Given the description of an element on the screen output the (x, y) to click on. 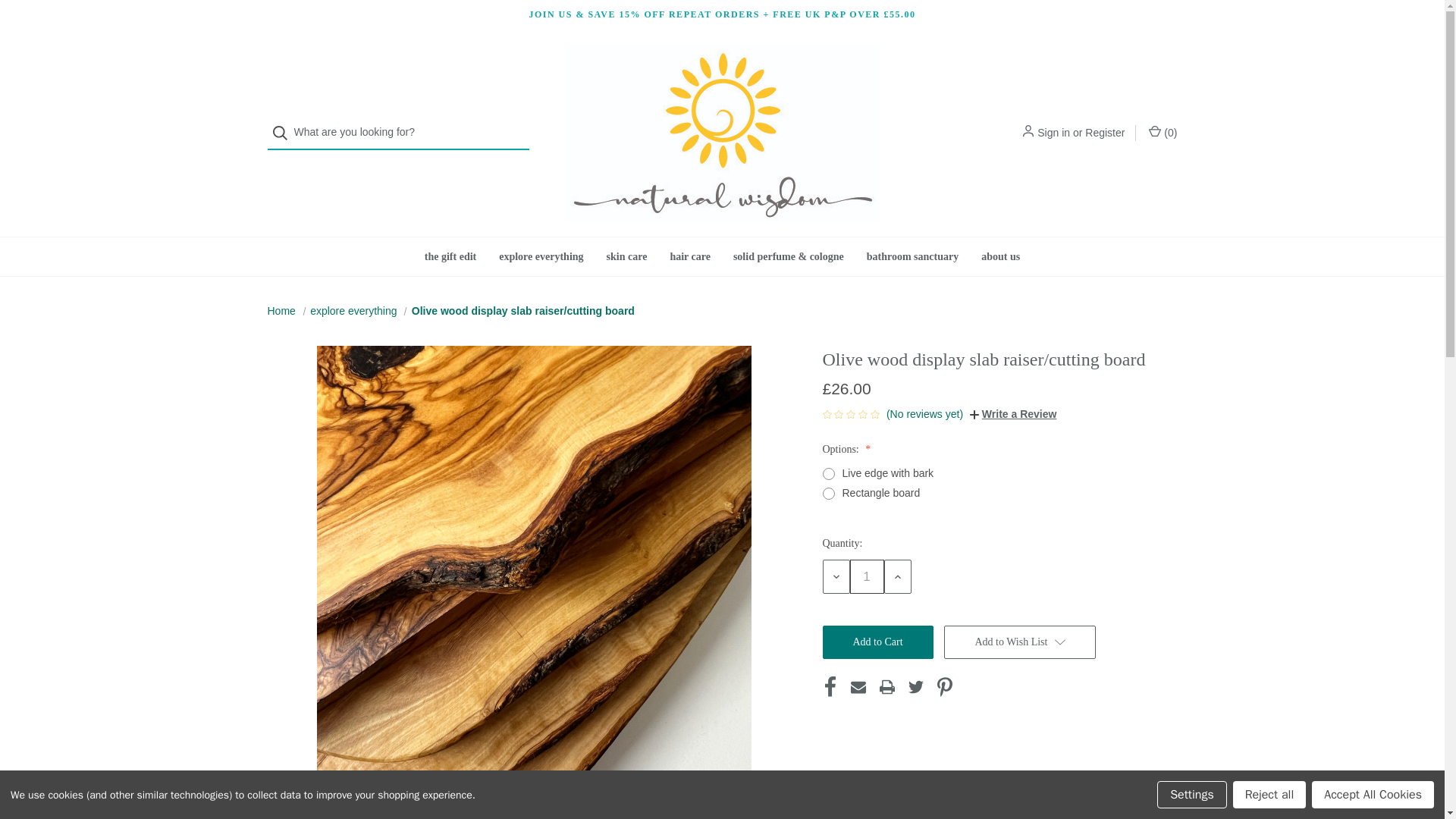
Pinterest (944, 686)
1 (865, 576)
Twitter (915, 686)
Natural Wisdom Organics Ltd (722, 132)
Increase Quantity: (897, 576)
Sign in (1053, 132)
Add to Cart (877, 642)
the gift edit (450, 256)
Print (887, 686)
Decrease Quantity: (835, 576)
Facebook (829, 686)
Write a Review (1013, 413)
about us (999, 256)
